Given the description of an element on the screen output the (x, y) to click on. 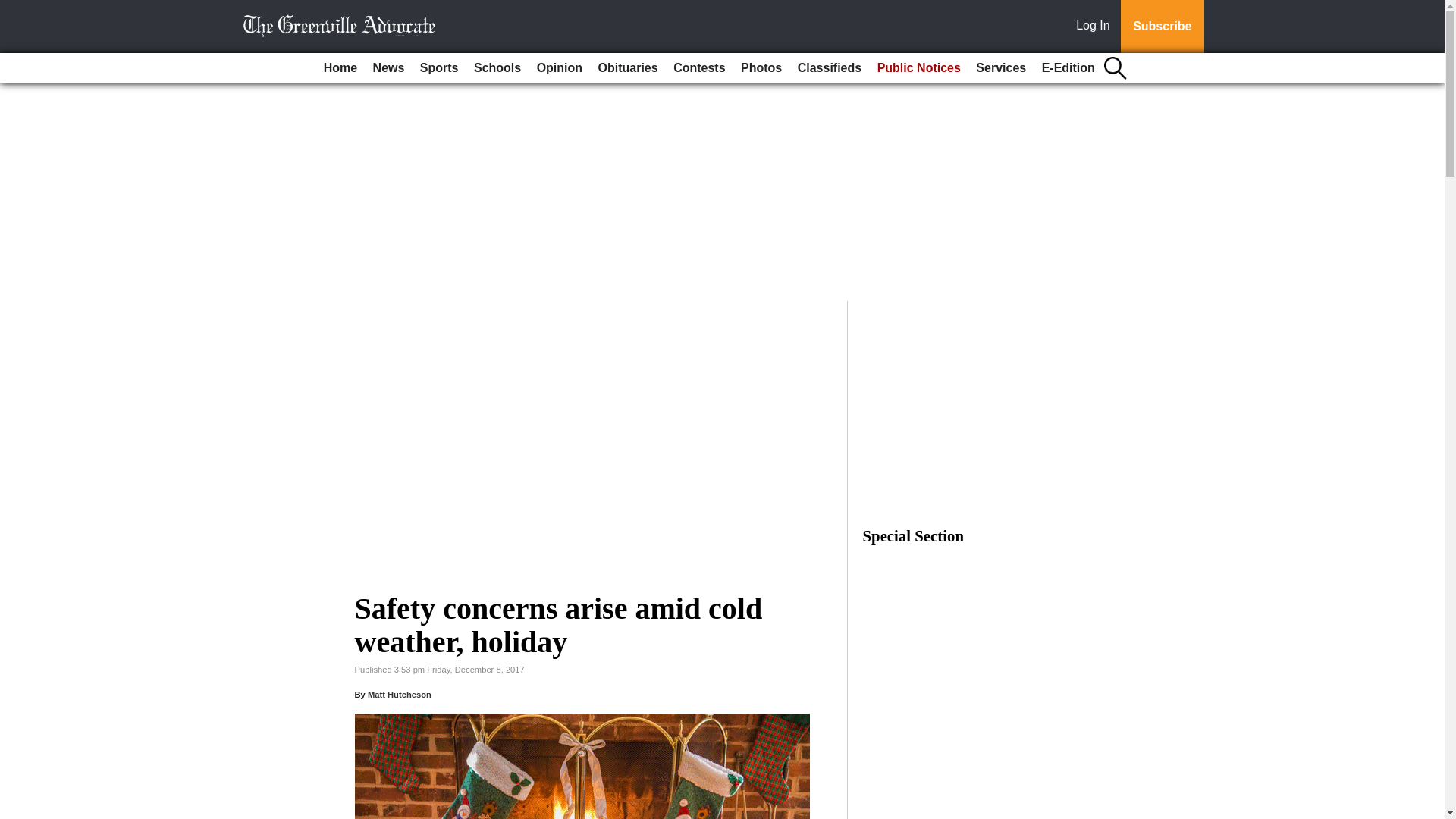
Sports (438, 68)
Opinion (559, 68)
E-Edition (1067, 68)
Schools (497, 68)
Obituaries (627, 68)
Services (1000, 68)
Public Notices (918, 68)
Home (339, 68)
Classifieds (829, 68)
Photos (761, 68)
Go (13, 9)
Subscribe (1162, 26)
News (388, 68)
Log In (1095, 26)
Matt Hutcheson (399, 694)
